Given the description of an element on the screen output the (x, y) to click on. 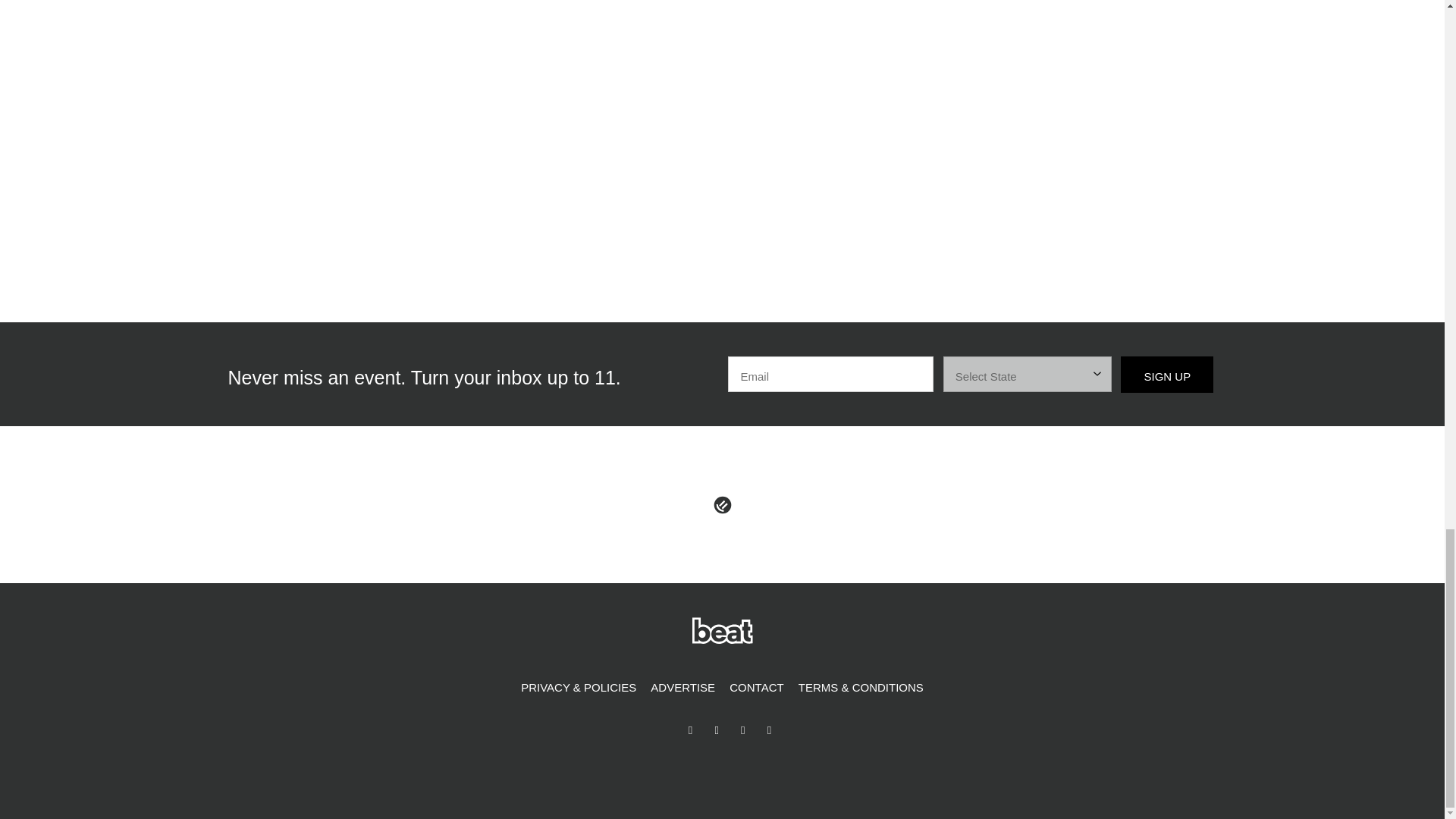
3rd party ad content (1052, 126)
SIGN UP (1166, 374)
ADVERTISE (682, 687)
